Given the description of an element on the screen output the (x, y) to click on. 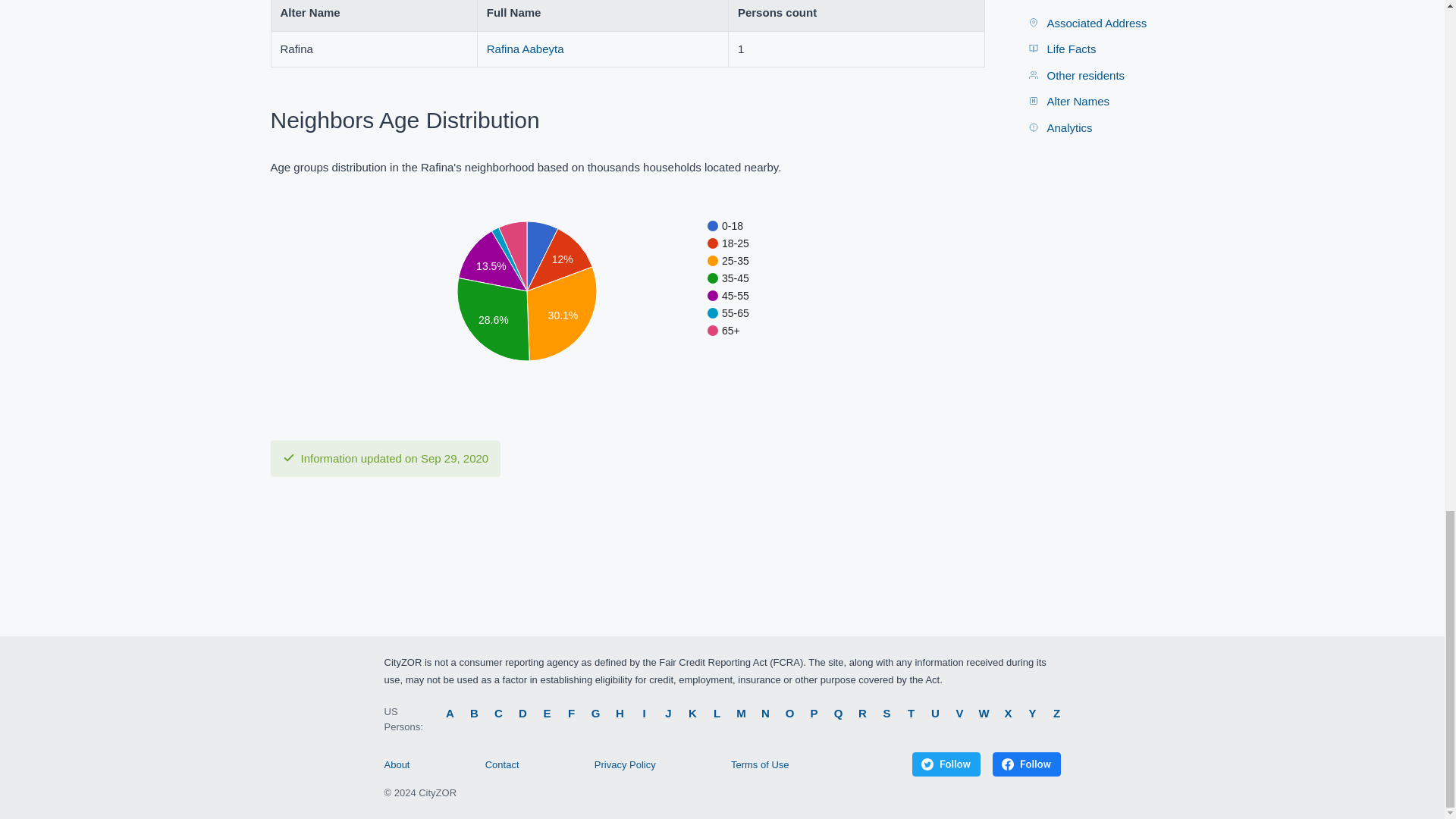
G (595, 712)
Rafina Aabeyta (525, 48)
F (571, 712)
D (522, 712)
B (474, 712)
C (498, 712)
E (547, 712)
A (450, 712)
